Given the description of an element on the screen output the (x, y) to click on. 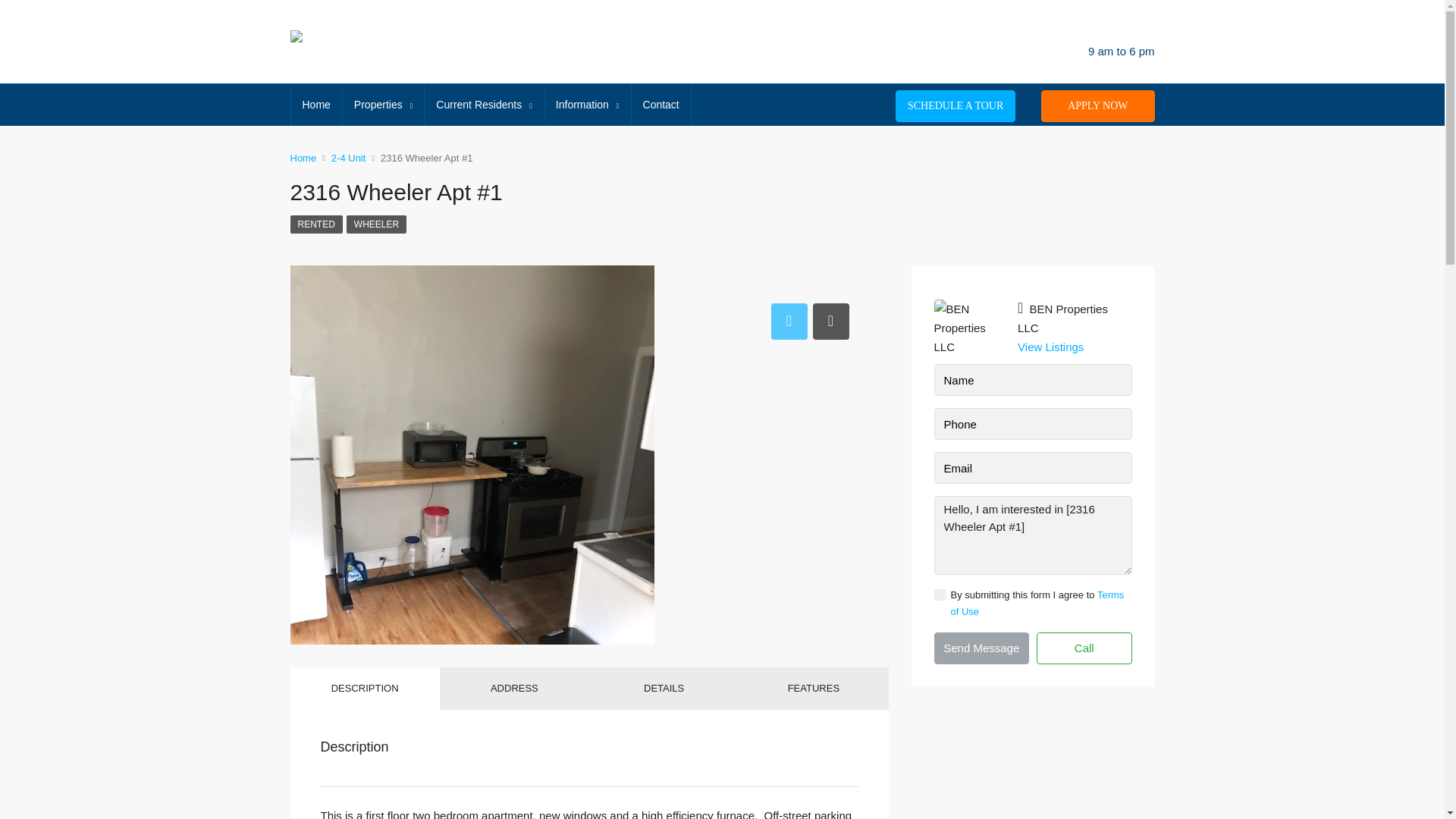
SCHEDULE A TOUR (954, 106)
Information (587, 105)
Properties (382, 105)
Contact (660, 104)
Home (316, 104)
Current Residents (484, 105)
APPLY NOW (1097, 106)
513-381-6866 (1006, 41)
